Given the description of an element on the screen output the (x, y) to click on. 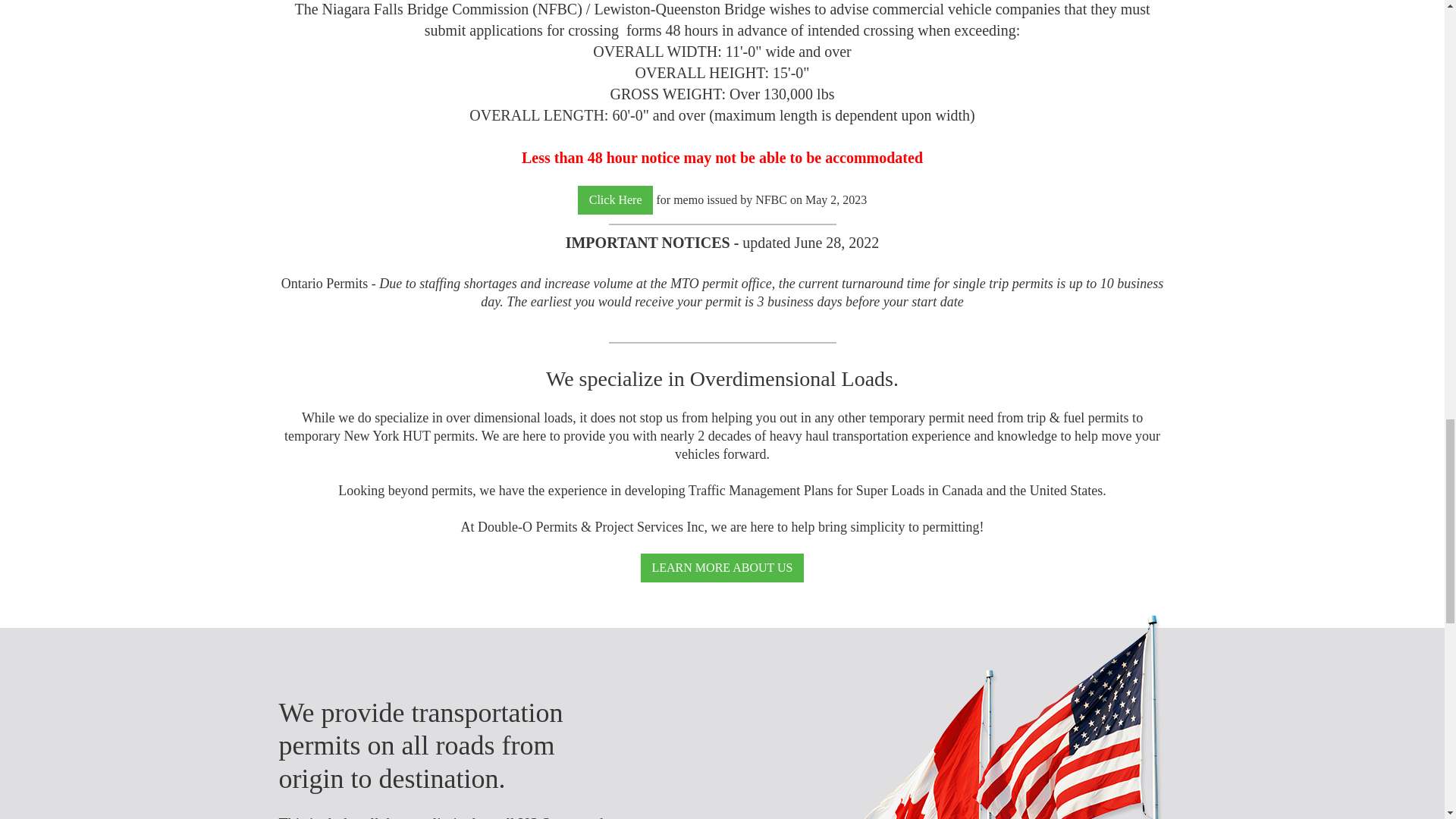
NFBC Memo (615, 199)
Click Here (615, 199)
US and Canada flags (1000, 717)
LEARN MORE ABOUT US (722, 567)
About Us (722, 567)
